Given the description of an element on the screen output the (x, y) to click on. 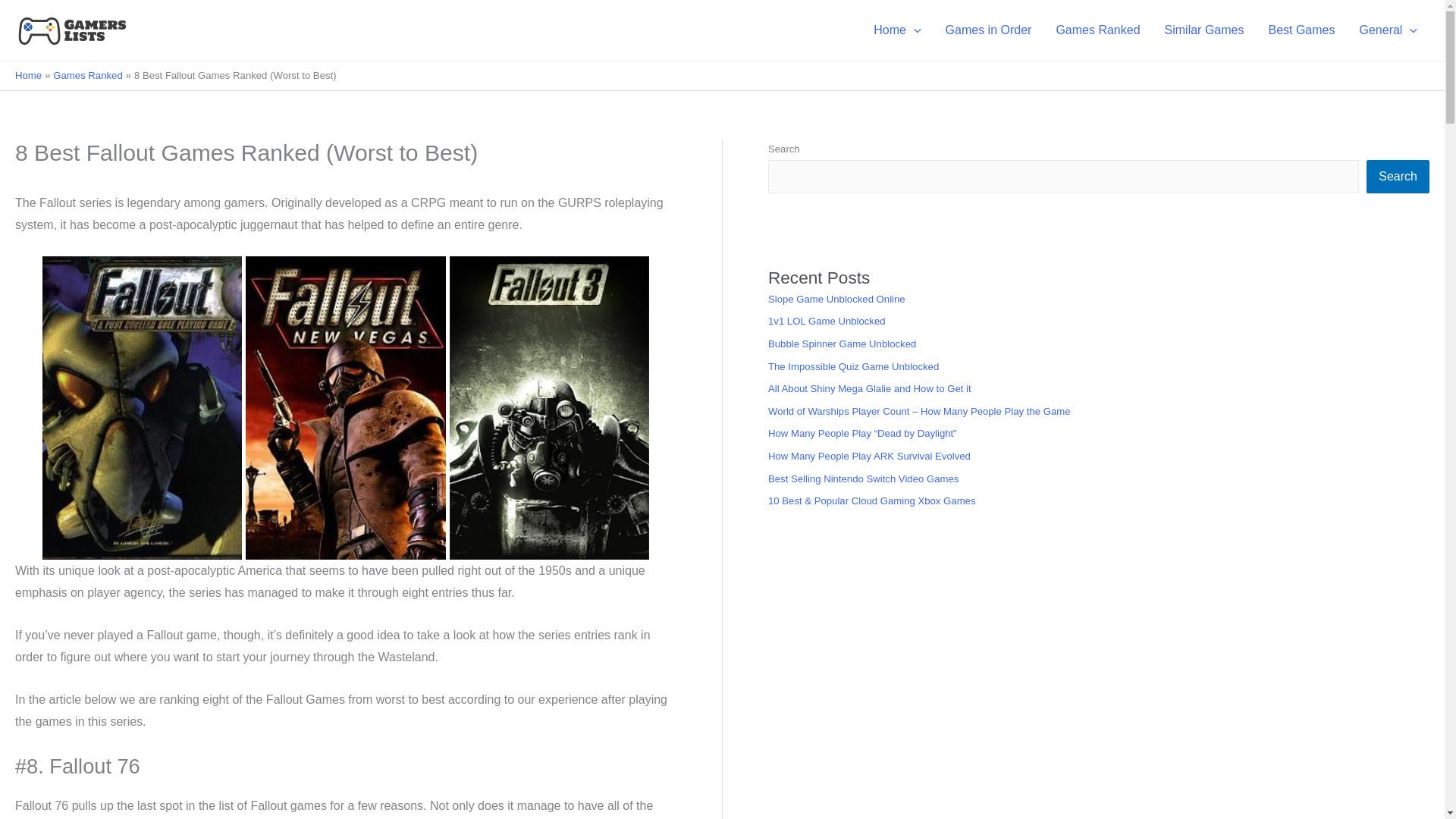
Home (897, 30)
Games Ranked (1097, 30)
Games in Order (988, 30)
General (1387, 30)
Similar Games (1204, 30)
Best Games (1300, 30)
